Given the description of an element on the screen output the (x, y) to click on. 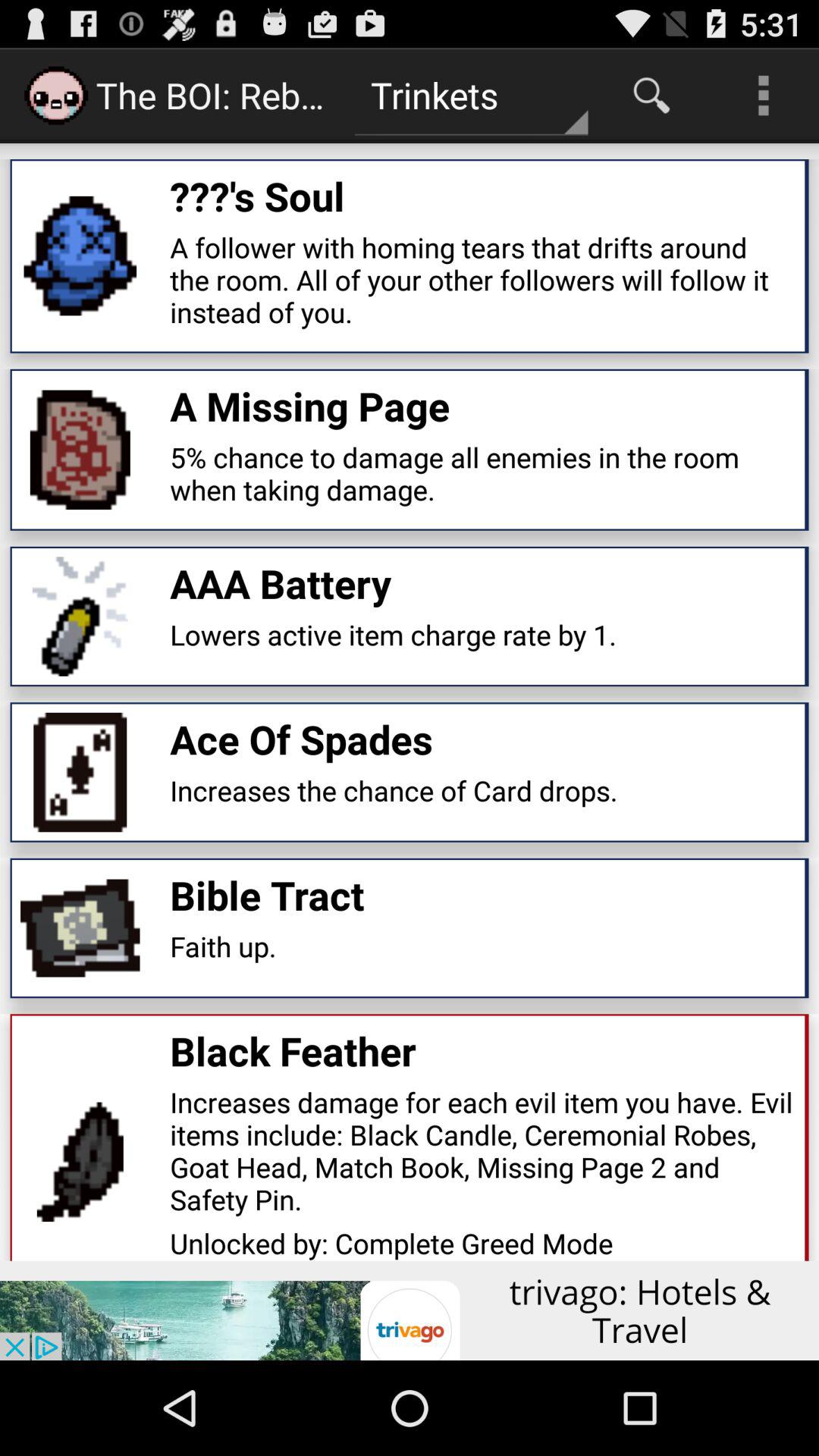
click on the small image which is on the left side of a missing page (80, 449)
click on trinkets (471, 95)
click on search icon (651, 95)
select the icon which is before the boi reb on page (56, 95)
